Given the description of an element on the screen output the (x, y) to click on. 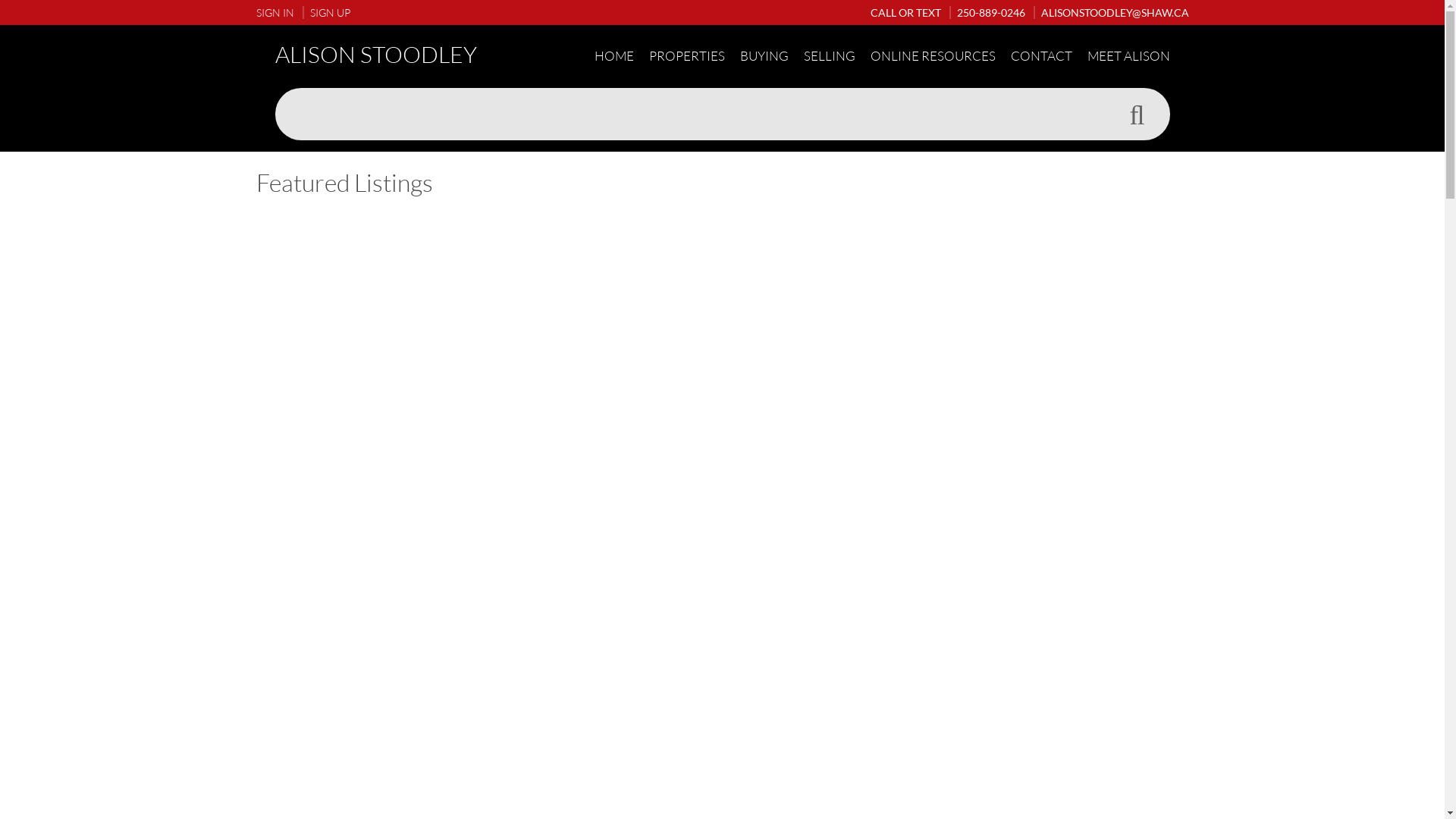
BUYING Element type: text (764, 55)
SIGN IN Element type: text (275, 12)
Search Element type: text (1136, 114)
SIGN UP Element type: text (325, 12)
SELLING Element type: text (829, 55)
ALISONSTOODLEY@SHAW.CA Element type: text (1110, 12)
HOME Element type: text (613, 55)
MEET ALISON Element type: text (1128, 55)
ONLINE RESOURCES Element type: text (932, 55)
250-889-0246 Element type: text (987, 12)
CONTACT Element type: text (1040, 55)
PROPERTIES Element type: text (686, 55)
